Given the description of an element on the screen output the (x, y) to click on. 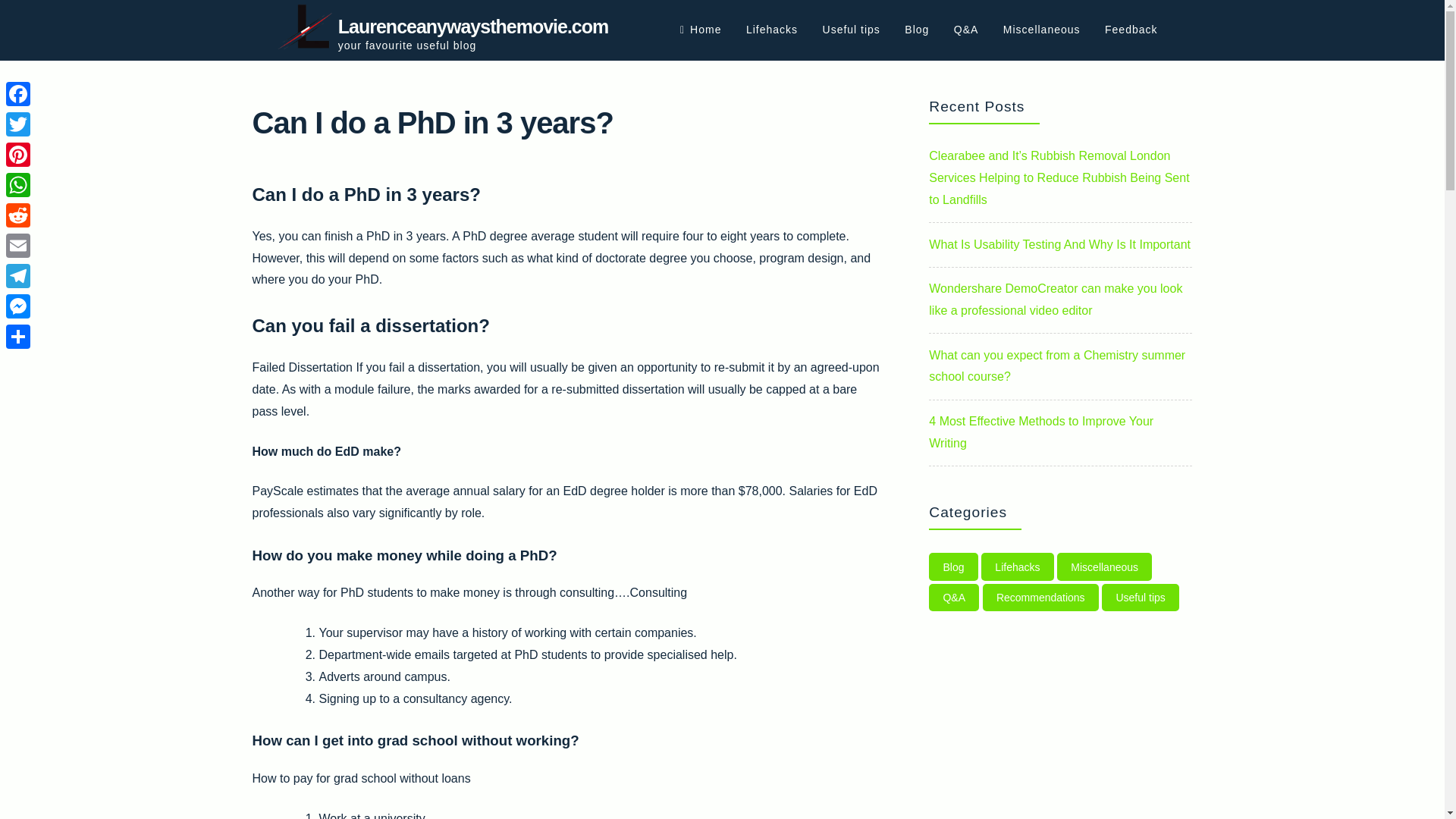
Miscellaneous (1104, 565)
Facebook (17, 93)
Home (699, 30)
Useful tips (1140, 596)
What Is Usability Testing And Why Is It Important (1059, 244)
Laurenceanywaysthemovie.com (472, 25)
What can you expect from a Chemistry summer school course? (1056, 366)
Messenger (17, 306)
Reddit (17, 214)
Pinterest (17, 154)
